Given the description of an element on the screen output the (x, y) to click on. 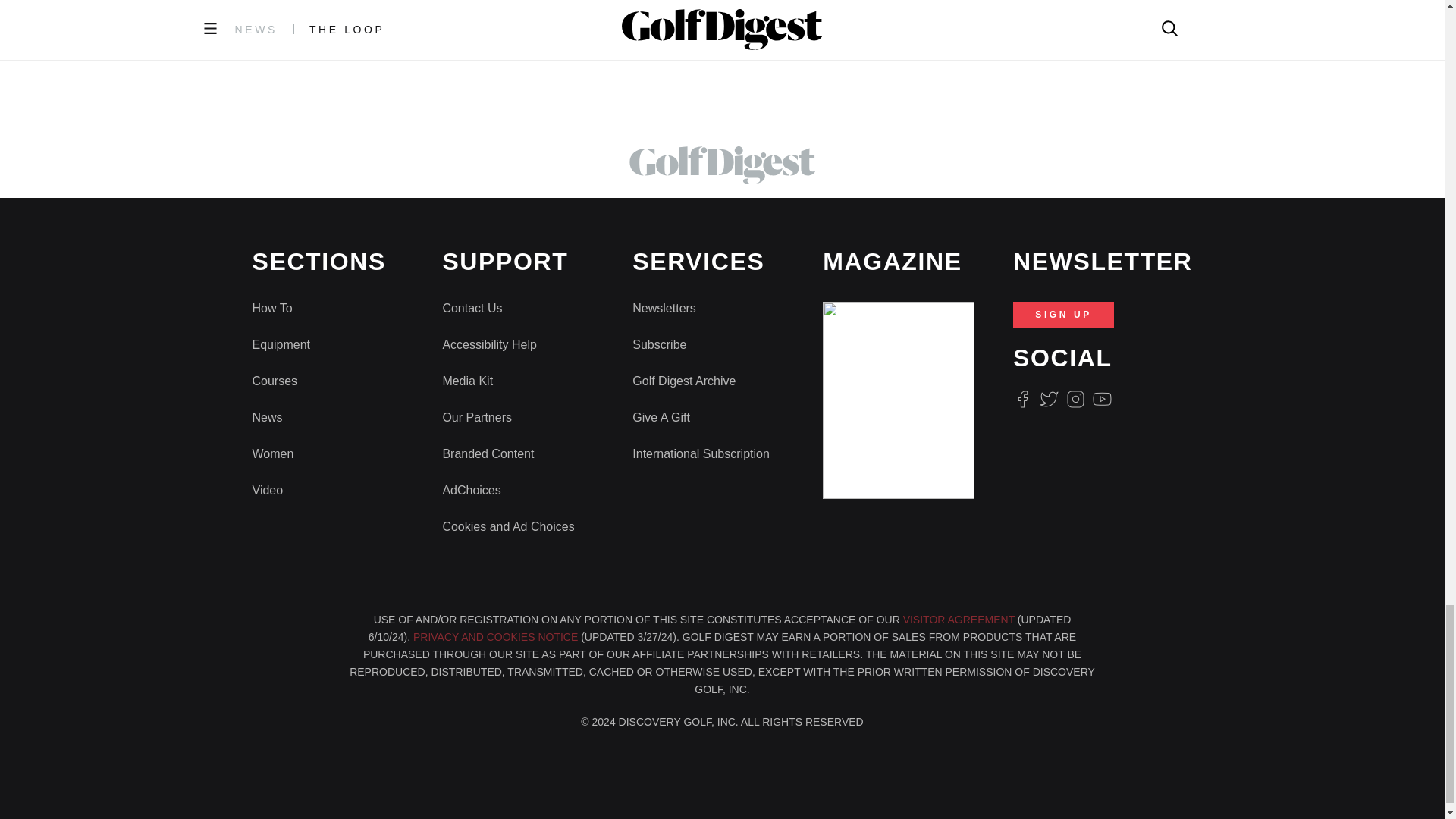
Instagram Logo (1074, 398)
Youtube Icon (1102, 398)
Twitter Logo (1048, 398)
Facebook Logo (1022, 398)
